Given the description of an element on the screen output the (x, y) to click on. 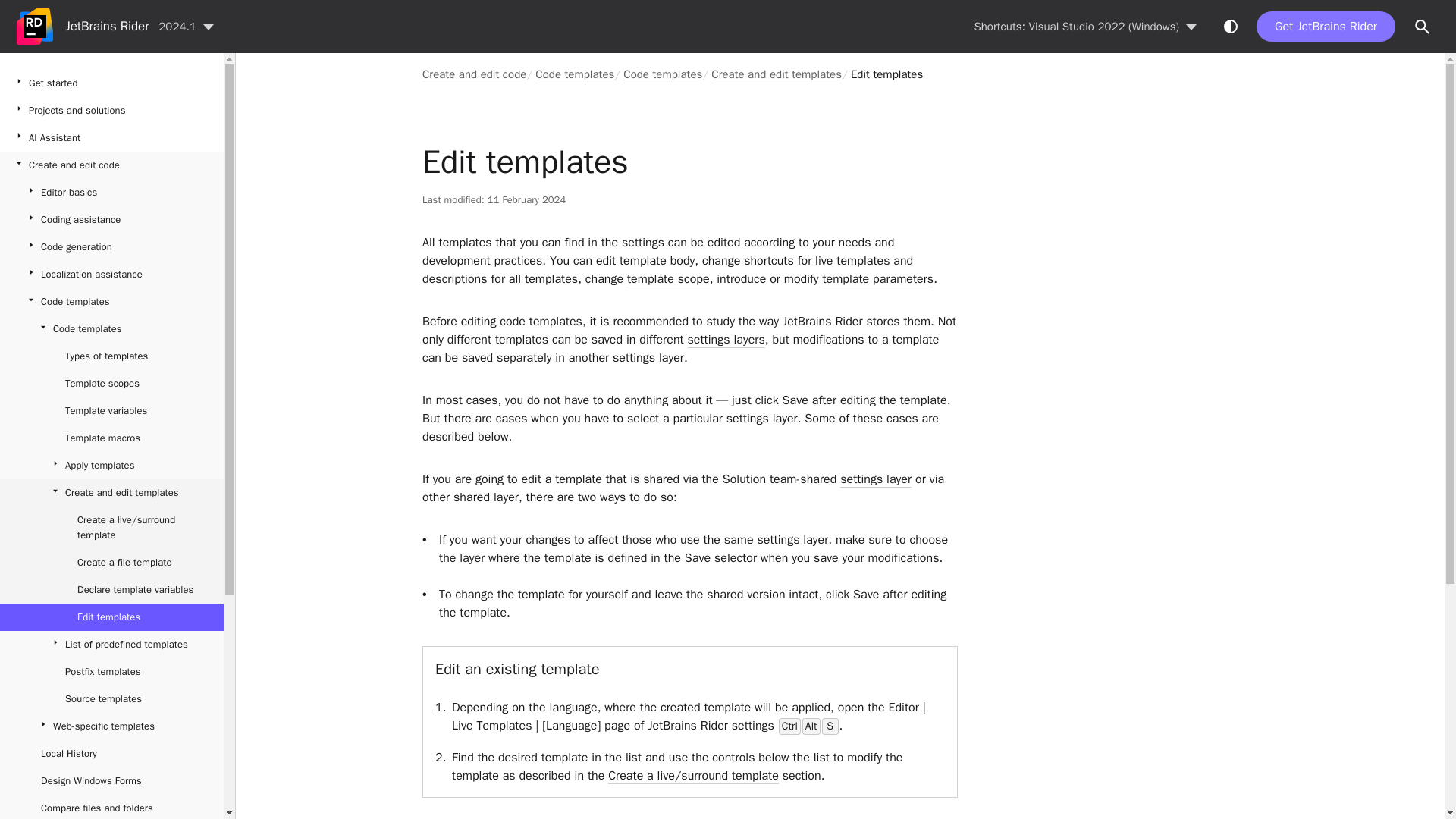
AI Assistant (112, 137)
Projects and solutions (112, 110)
Search (1422, 26)
Create a file template (112, 562)
Postfix templates (112, 671)
Editor basics (112, 192)
Template scopes (112, 383)
Localization assistance (112, 274)
Coding assistance (112, 219)
Create and edit code (112, 165)
